Given the description of an element on the screen output the (x, y) to click on. 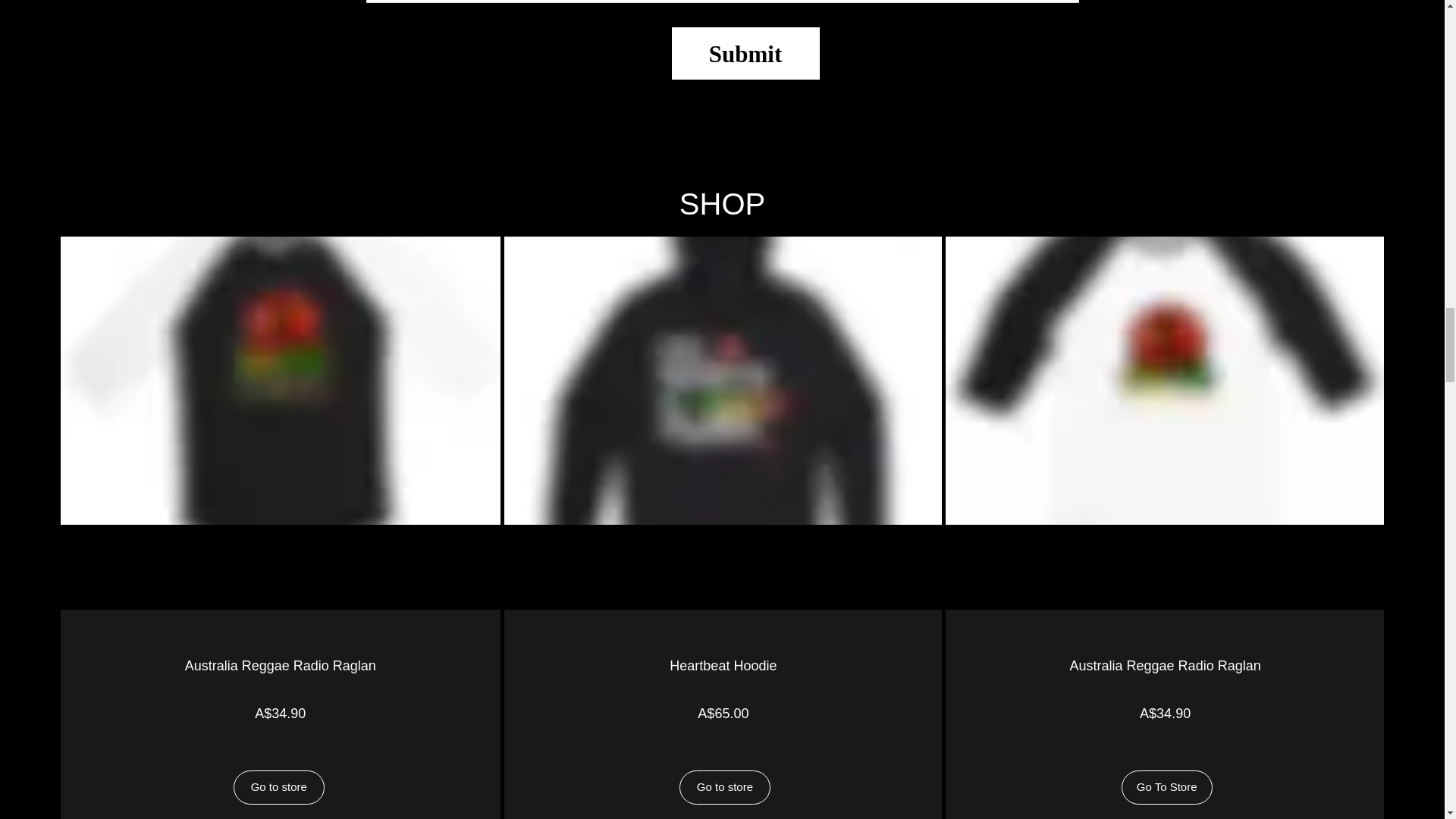
Go To Store (1166, 787)
Go to store (724, 787)
Go to store (278, 787)
Submit (745, 53)
